Given the description of an element on the screen output the (x, y) to click on. 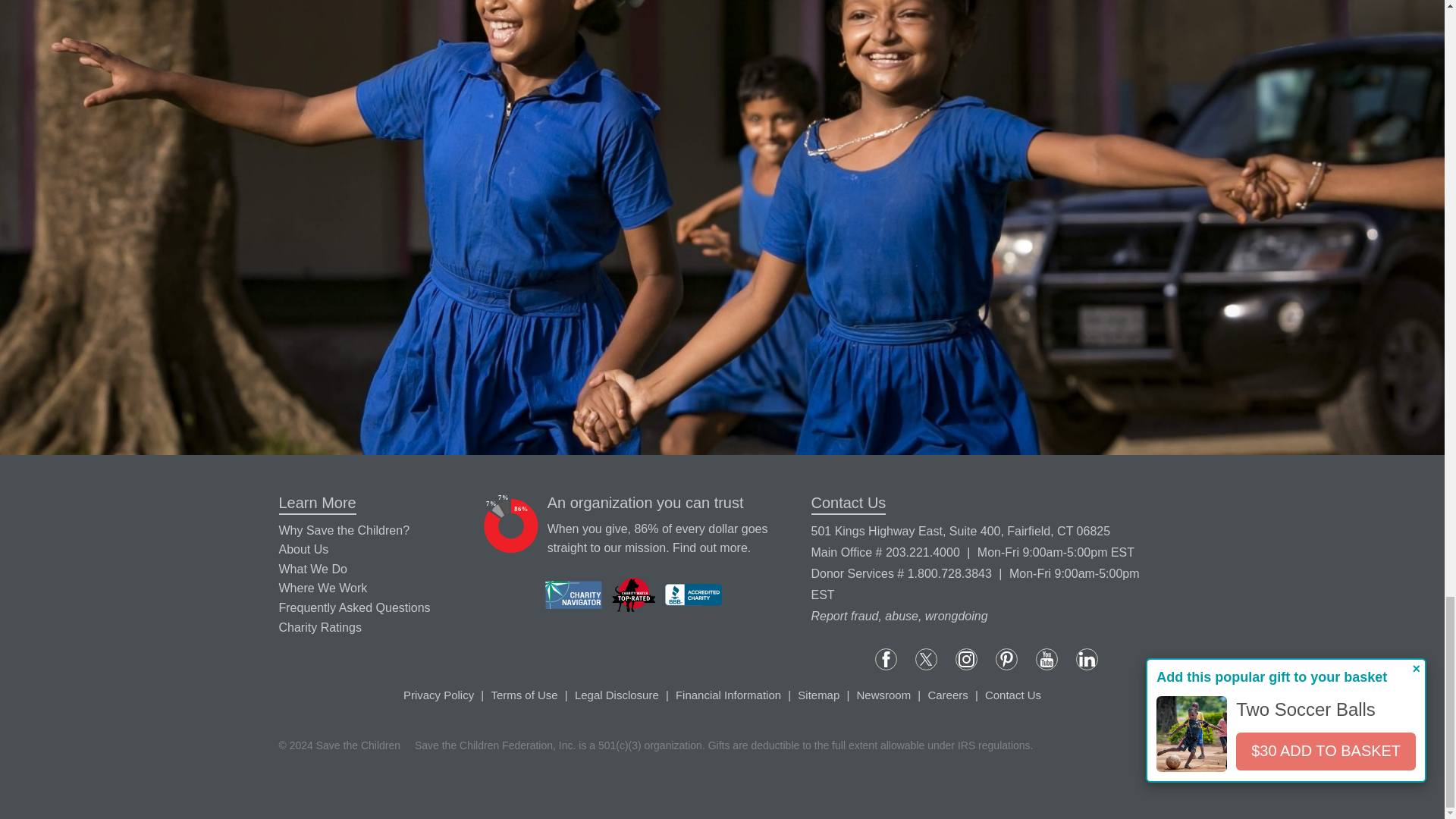
Twitter (926, 659)
Charity Navigator (573, 594)
Financial Information (710, 547)
Instagram (965, 659)
Charity Watch (633, 594)
YouTube (1046, 659)
LinkedIn (1086, 659)
Facebook (885, 659)
Better Business Bureau (693, 594)
Pinterest (1006, 659)
